Given the description of an element on the screen output the (x, y) to click on. 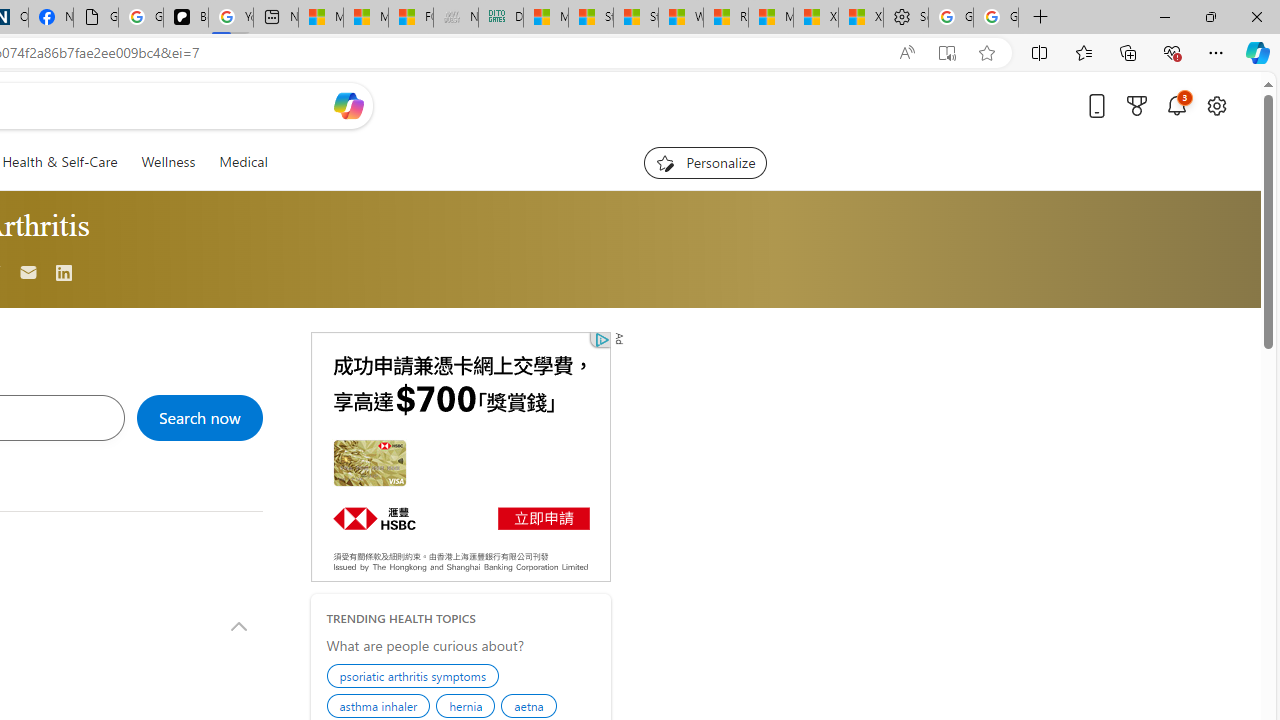
FOX News - MSN (410, 17)
Be Smart | creating Science videos | Patreon (185, 17)
Google Analytics Opt-out Browser Add-on Download Page (95, 17)
Linkedin (64, 273)
Medical (243, 161)
Personalize your feed" (704, 162)
